Given the description of an element on the screen output the (x, y) to click on. 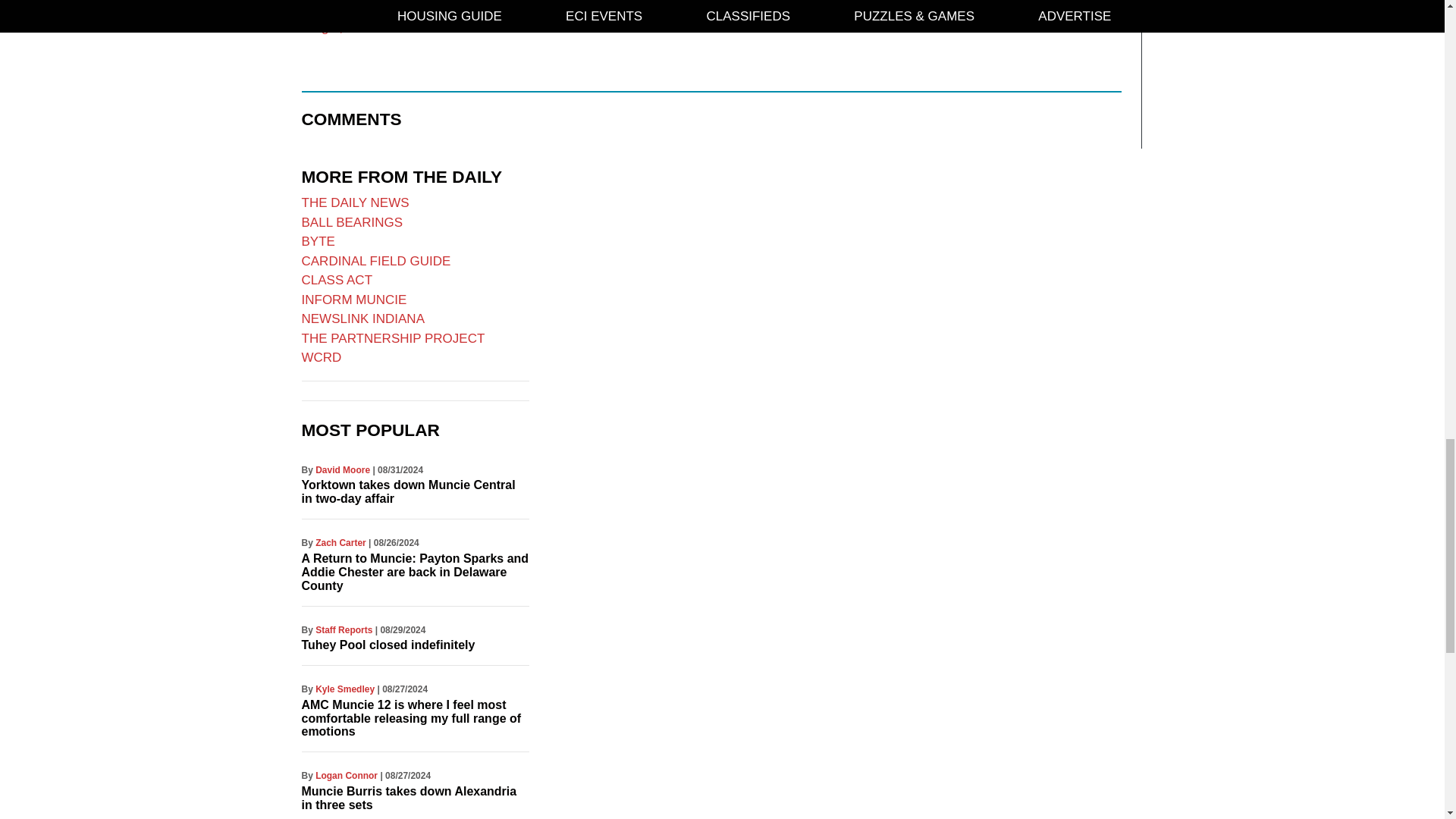
WCRD (321, 357)
INFORM MUNCIE (354, 299)
Yorktown takes down Muncie Central in two-day affair (408, 491)
CARDINAL FIELD GUIDE (376, 260)
CLASS ACT (336, 279)
NEWSLINK INDIANA (363, 318)
BALL BEARINGS (352, 222)
BYTE (317, 241)
David Moore (342, 470)
THE PARTNERSHIP PROJECT (392, 338)
